Given the description of an element on the screen output the (x, y) to click on. 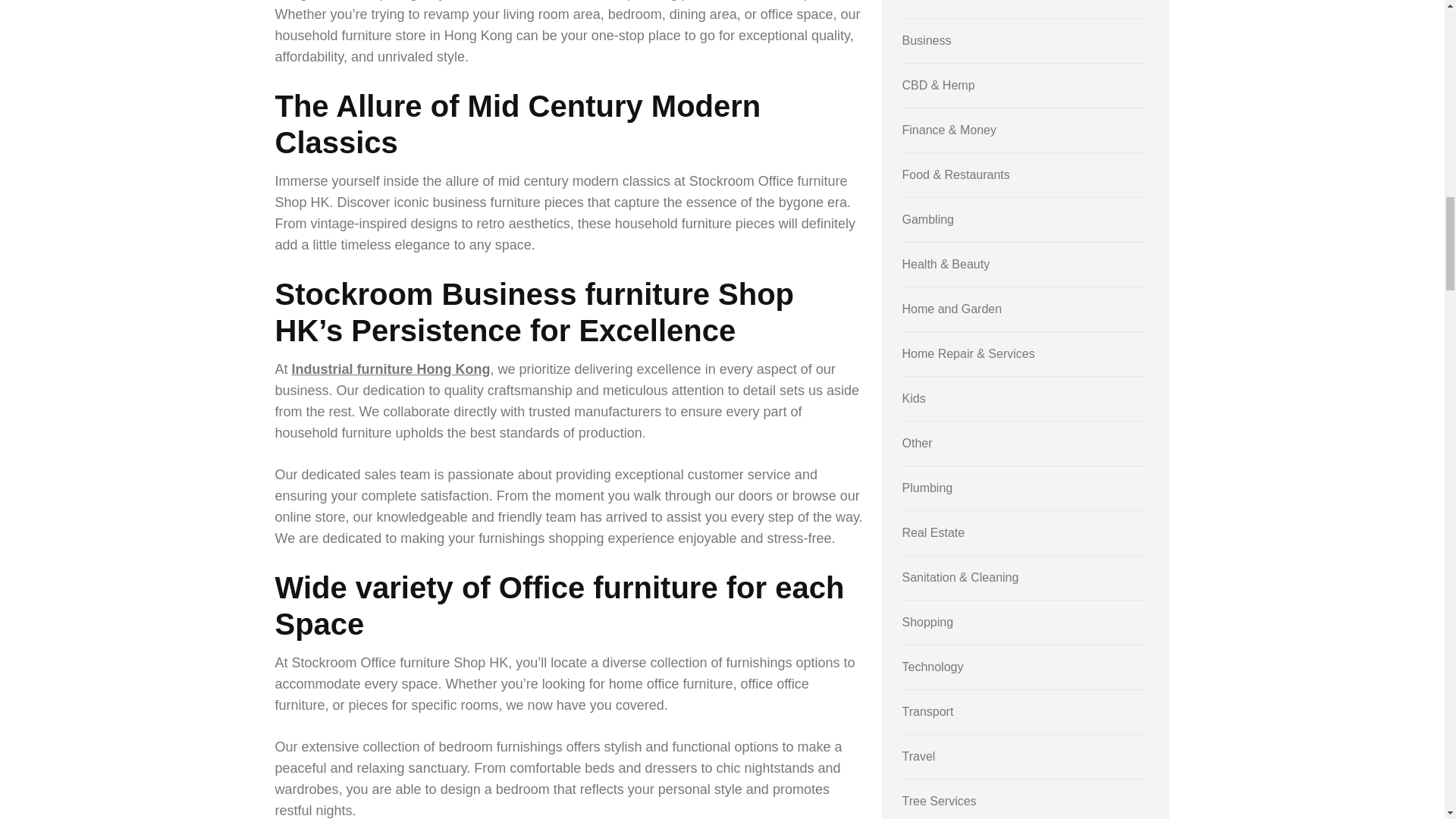
Industrial furniture Hong Kong (391, 368)
